Given the description of an element on the screen output the (x, y) to click on. 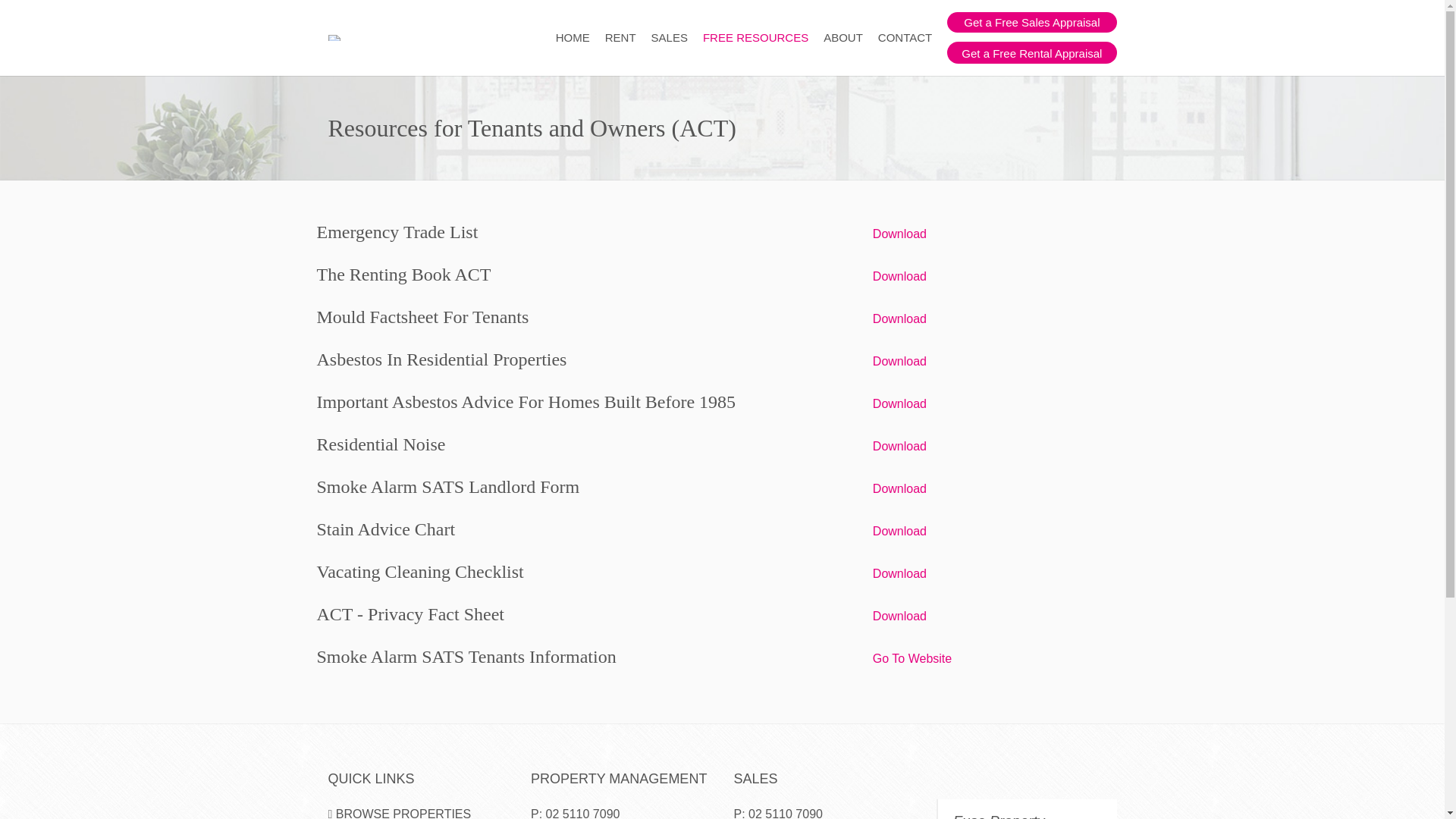
Download Element type: text (899, 445)
SALES Element type: text (669, 37)
Download Element type: text (899, 360)
Download Element type: text (899, 488)
Get a Free Sales Appraisal Element type: text (1031, 22)
Download Element type: text (899, 530)
Go To Website Element type: text (911, 658)
Download Element type: text (899, 318)
FREE RESOURCES Element type: text (755, 37)
RENT Element type: text (620, 37)
Download Element type: text (899, 573)
Download Element type: text (899, 233)
Download Element type: text (899, 615)
HOME Element type: text (572, 37)
ABOUT Element type: text (842, 37)
Download Element type: text (899, 403)
Download Element type: text (899, 275)
Get a Free Rental Appraisal Element type: text (1031, 52)
CONTACT Element type: text (904, 37)
